Given the description of an element on the screen output the (x, y) to click on. 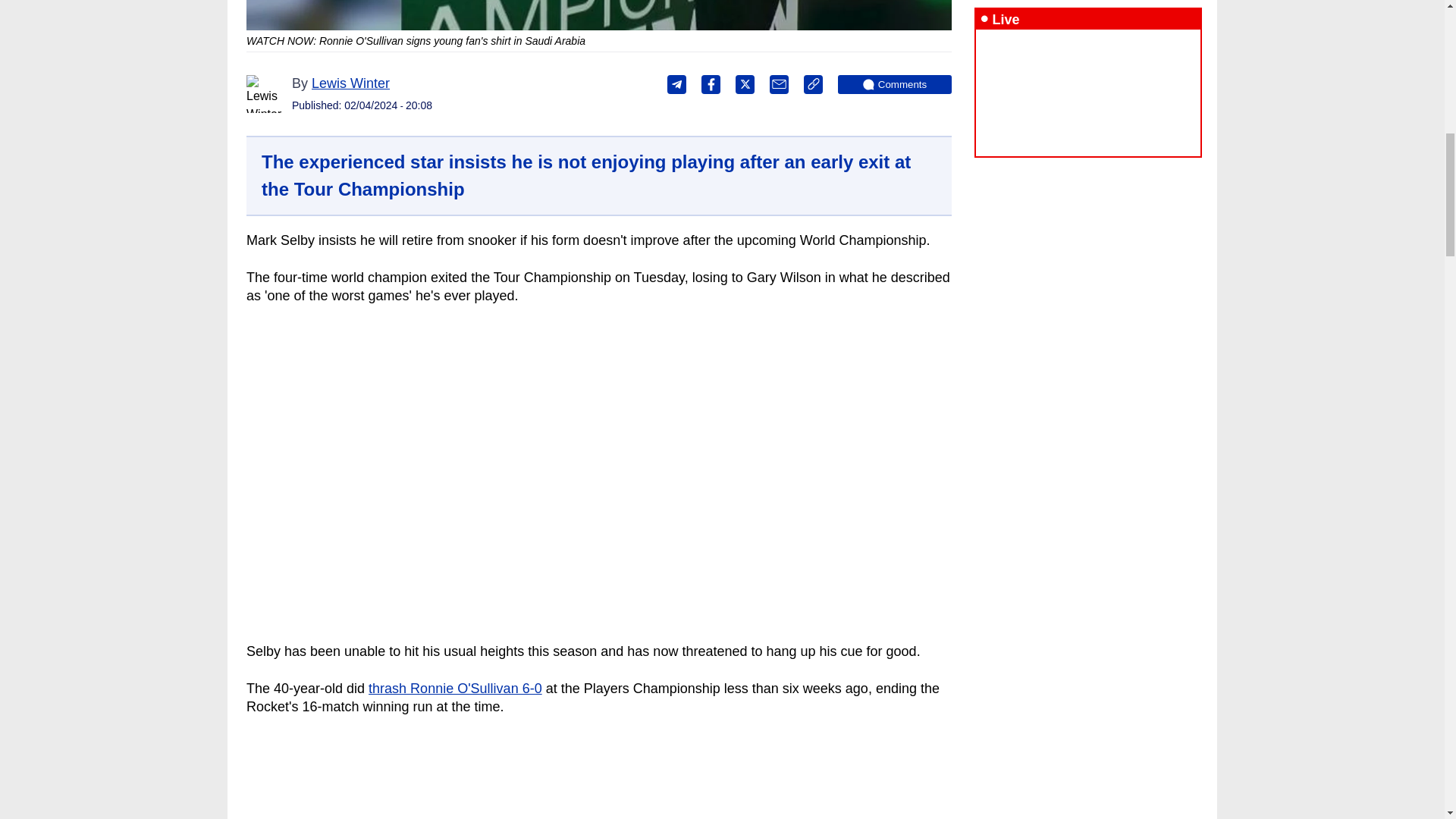
Lewis Winter (350, 83)
Lewis Winter (264, 94)
Copy this link to clipboard (812, 84)
